Given the description of an element on the screen output the (x, y) to click on. 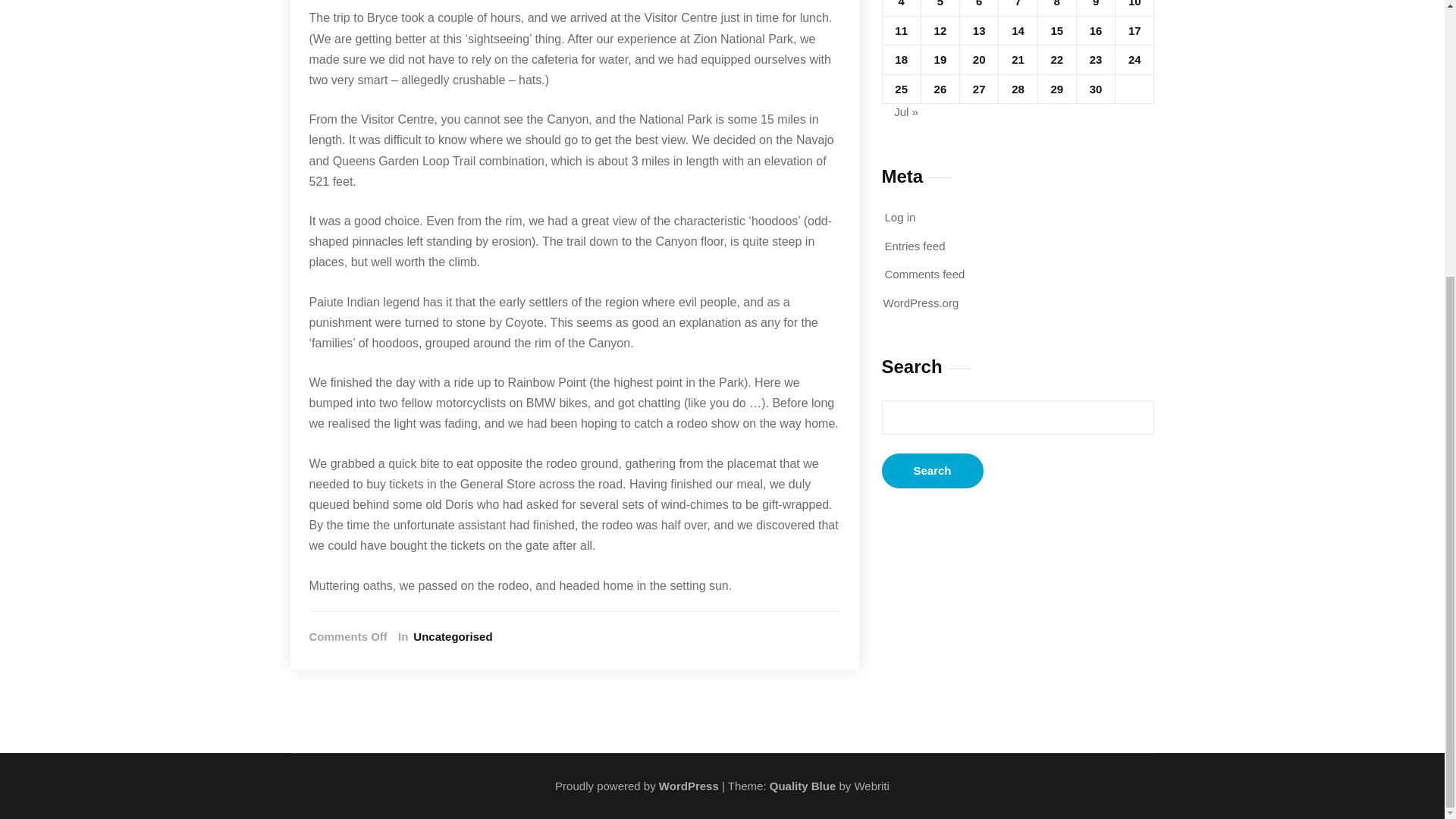
16 (1095, 30)
20 (978, 59)
23 (1095, 59)
18 (901, 59)
11 (901, 30)
21 (1018, 59)
Uncategorised (450, 637)
13 (978, 30)
19 (940, 59)
14 (1018, 30)
